Given the description of an element on the screen output the (x, y) to click on. 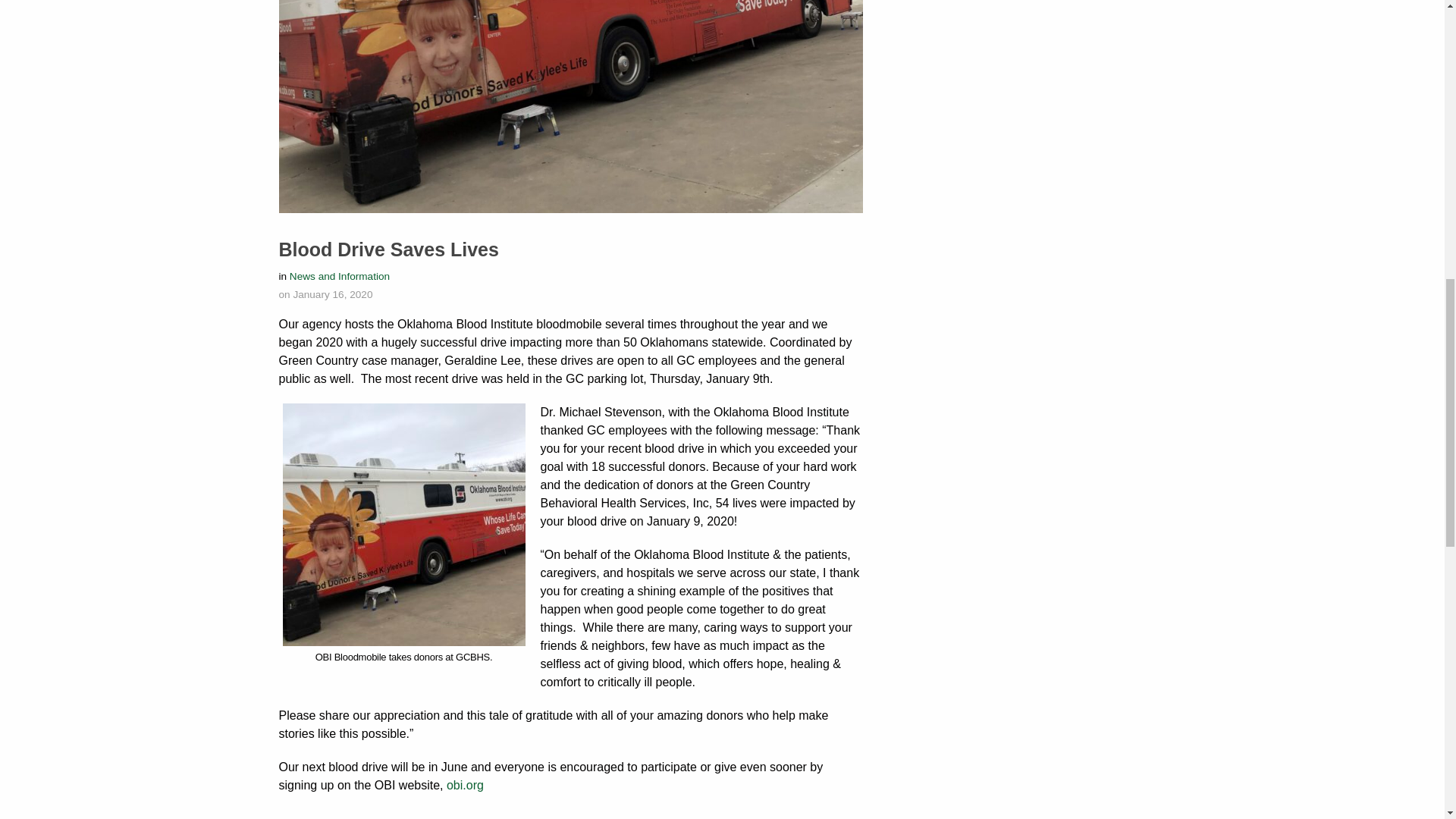
Blood Drive Saves Lives (389, 249)
obi.org (464, 784)
News and Information (339, 276)
Blood Drive Saves Lives (389, 249)
